Given the description of an element on the screen output the (x, y) to click on. 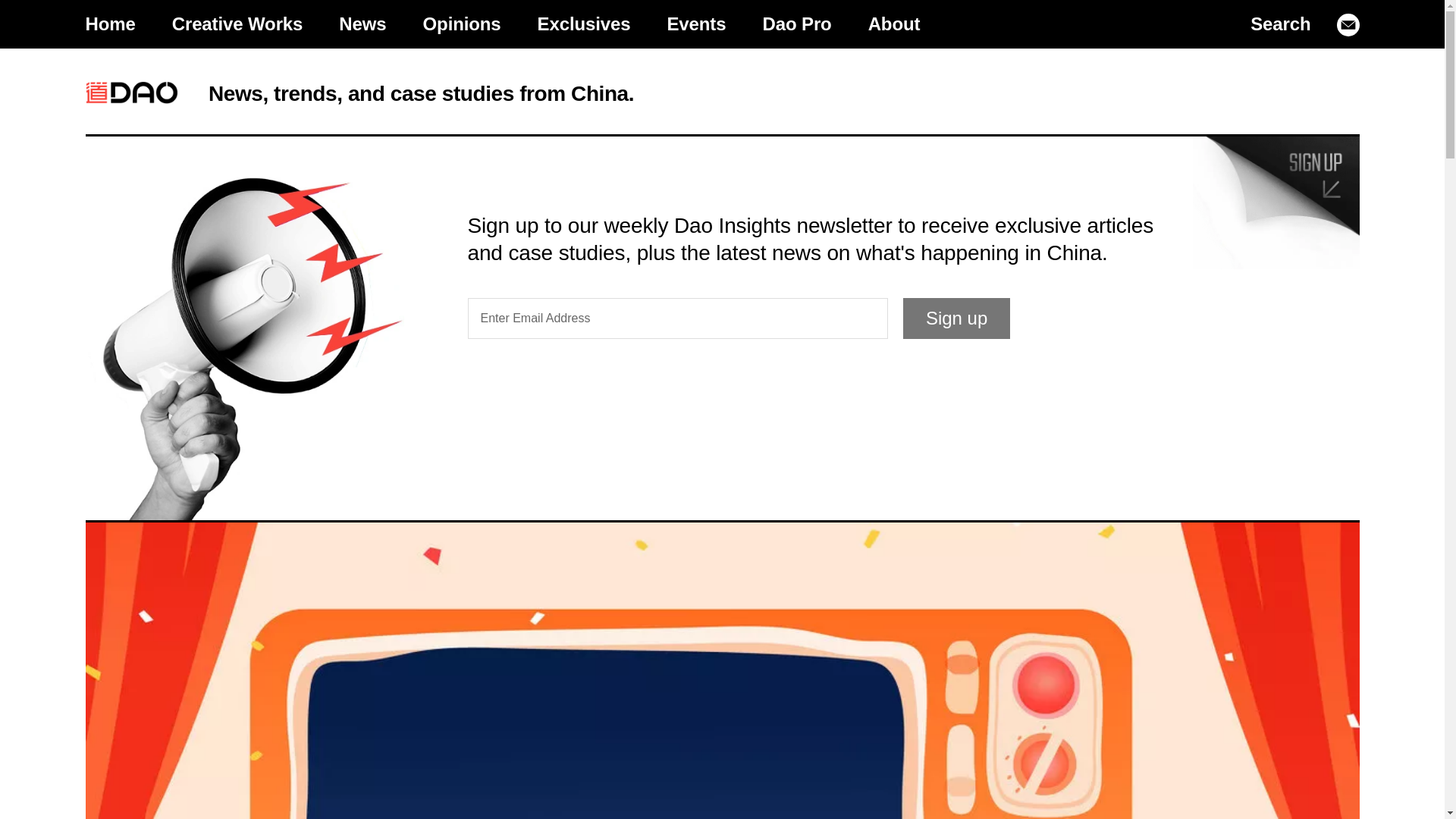
Search (1279, 24)
Opinions (461, 24)
Dao Insights (130, 92)
Dao Pro (796, 24)
Exclusives (584, 24)
News (362, 24)
Sign up (956, 318)
About (894, 24)
Home (109, 24)
Creative Works (237, 24)
Sign up (956, 318)
Events (695, 24)
